Given the description of an element on the screen output the (x, y) to click on. 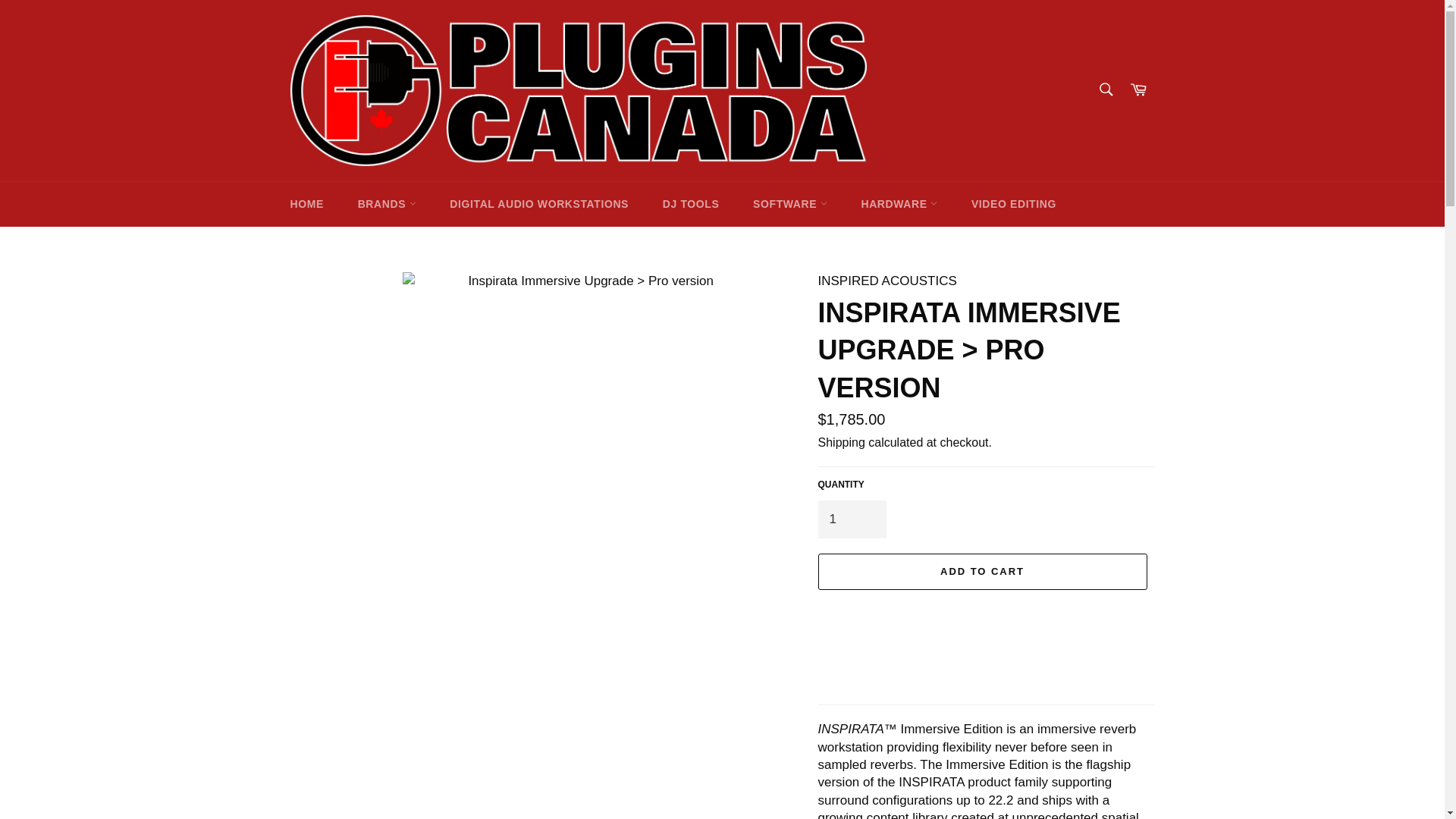
1 (850, 518)
